Given the description of an element on the screen output the (x, y) to click on. 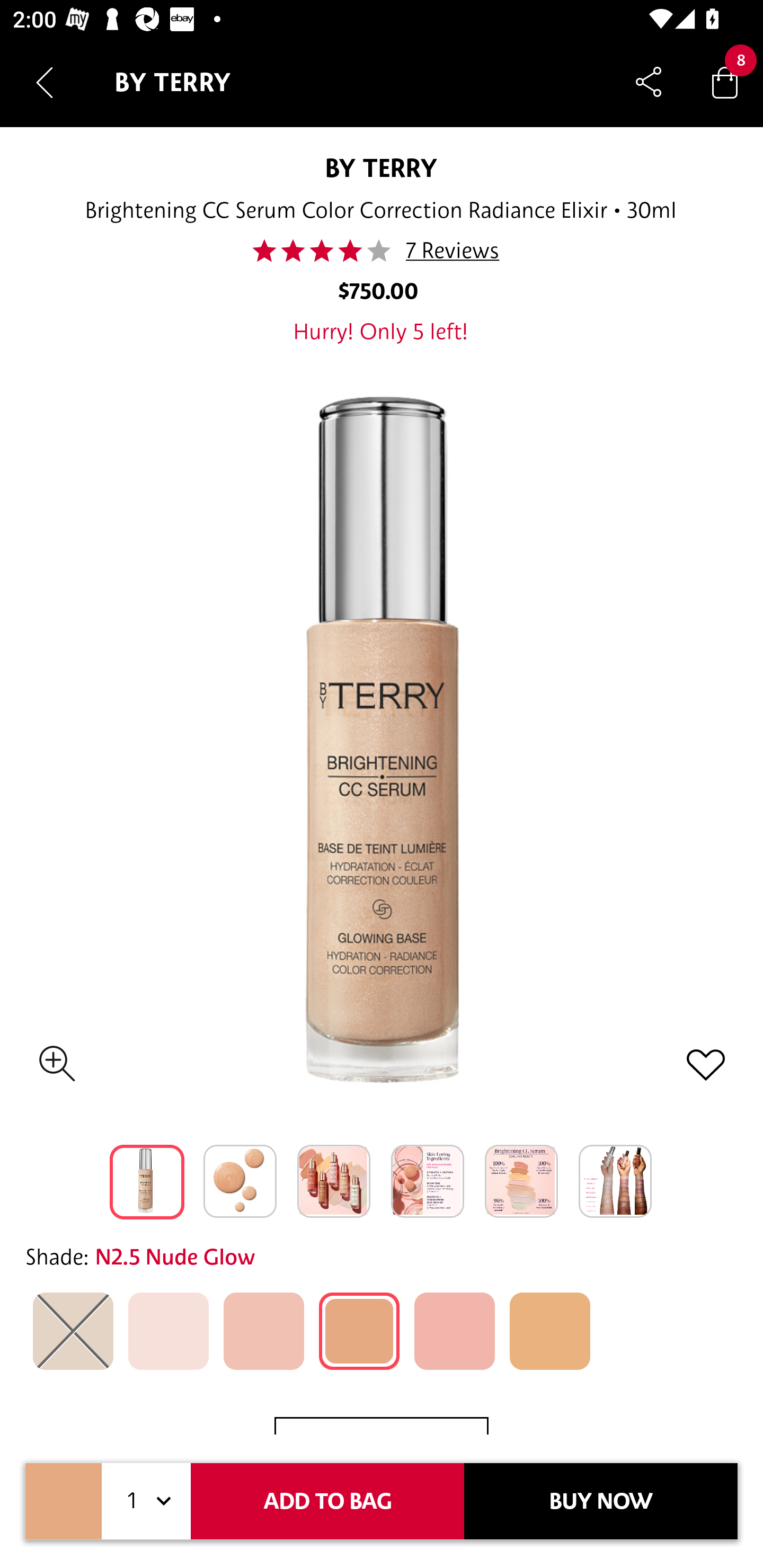
Navigate up (44, 82)
Share (648, 81)
Bag (724, 81)
BY TERRY (381, 167)
40.0 7 Reviews (381, 250)
1 (145, 1500)
ADD TO BAG (326, 1500)
BUY NOW (600, 1500)
